Given the description of an element on the screen output the (x, y) to click on. 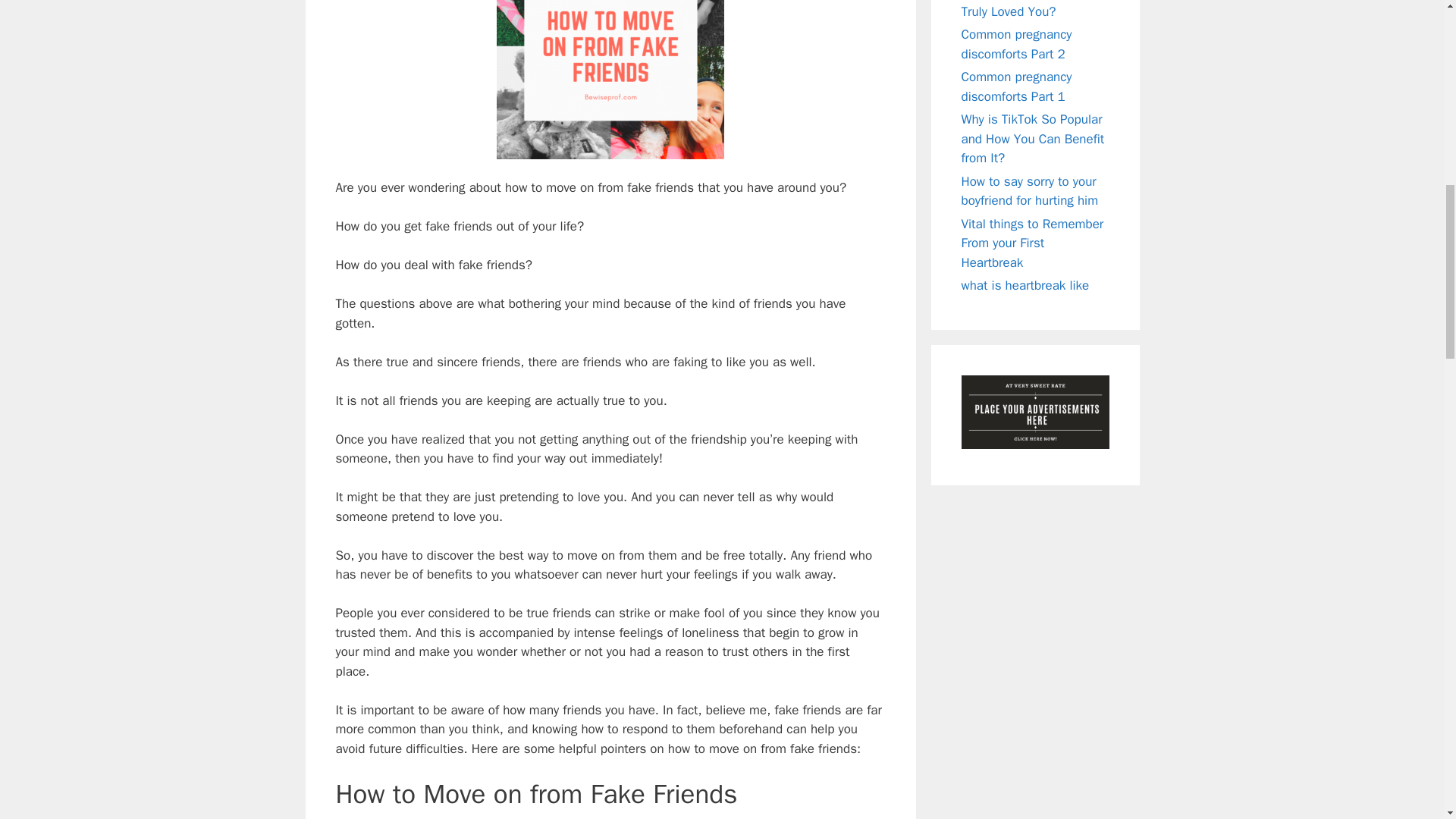
How to say sorry to your boyfriend for hurting him (1029, 190)
Common pregnancy discomforts Part 2 (1015, 44)
Vital things to Remember From your First Heartbreak (1031, 242)
what is heartbreak like (1024, 285)
Why is TikTok So Popular and How You Can Benefit from It? (1032, 138)
Common pregnancy discomforts Part 1 (1015, 86)
